Given the description of an element on the screen output the (x, y) to click on. 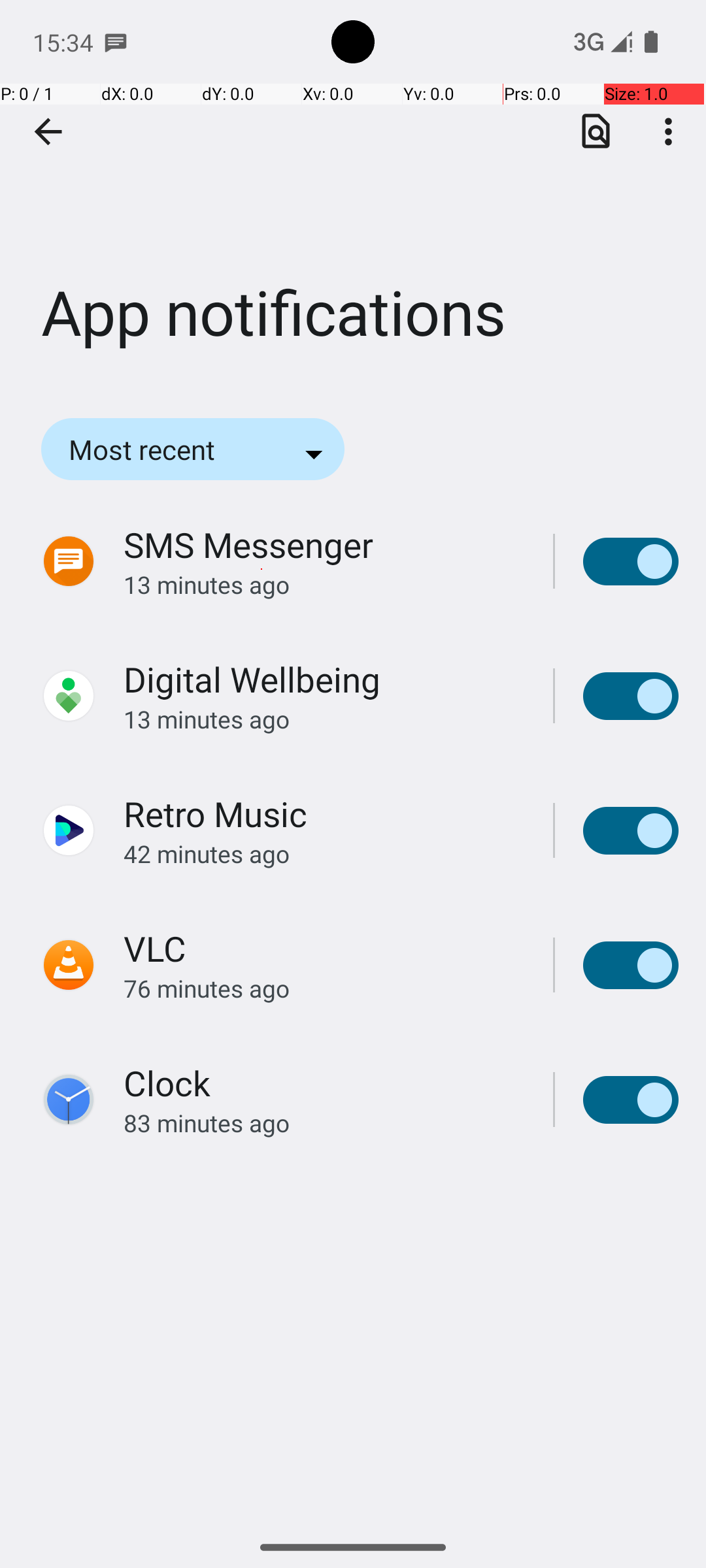
App notifications Element type: android.widget.FrameLayout (353, 195)
Most recent Element type: android.widget.TextView (159, 448)
13 minutes ago Element type: android.widget.TextView (324, 584)
Digital Wellbeing Element type: android.widget.TextView (252, 678)
42 minutes ago Element type: android.widget.TextView (324, 853)
76 minutes ago Element type: android.widget.TextView (324, 987)
83 minutes ago Element type: android.widget.TextView (324, 1122)
